Given the description of an element on the screen output the (x, y) to click on. 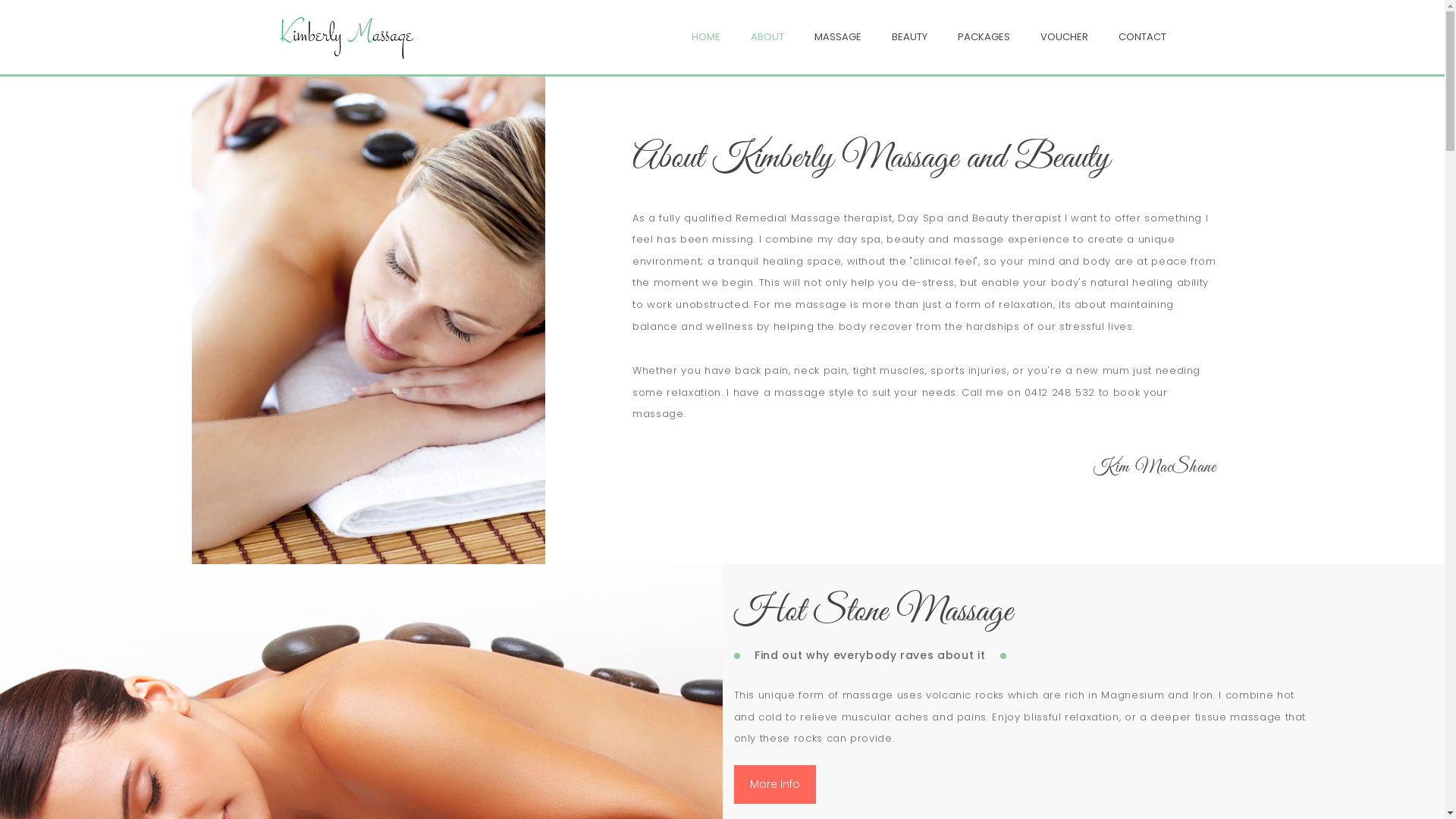
More Info Element type: text (774, 784)
PACKAGES Element type: text (983, 36)
BEAUTY Element type: text (909, 36)
HOME Element type: text (705, 36)
MASSAGE Element type: text (837, 36)
ABOUT Element type: text (767, 36)
CONTACT Element type: text (1141, 36)
VOUCHER Element type: text (1064, 36)
